Given the description of an element on the screen output the (x, y) to click on. 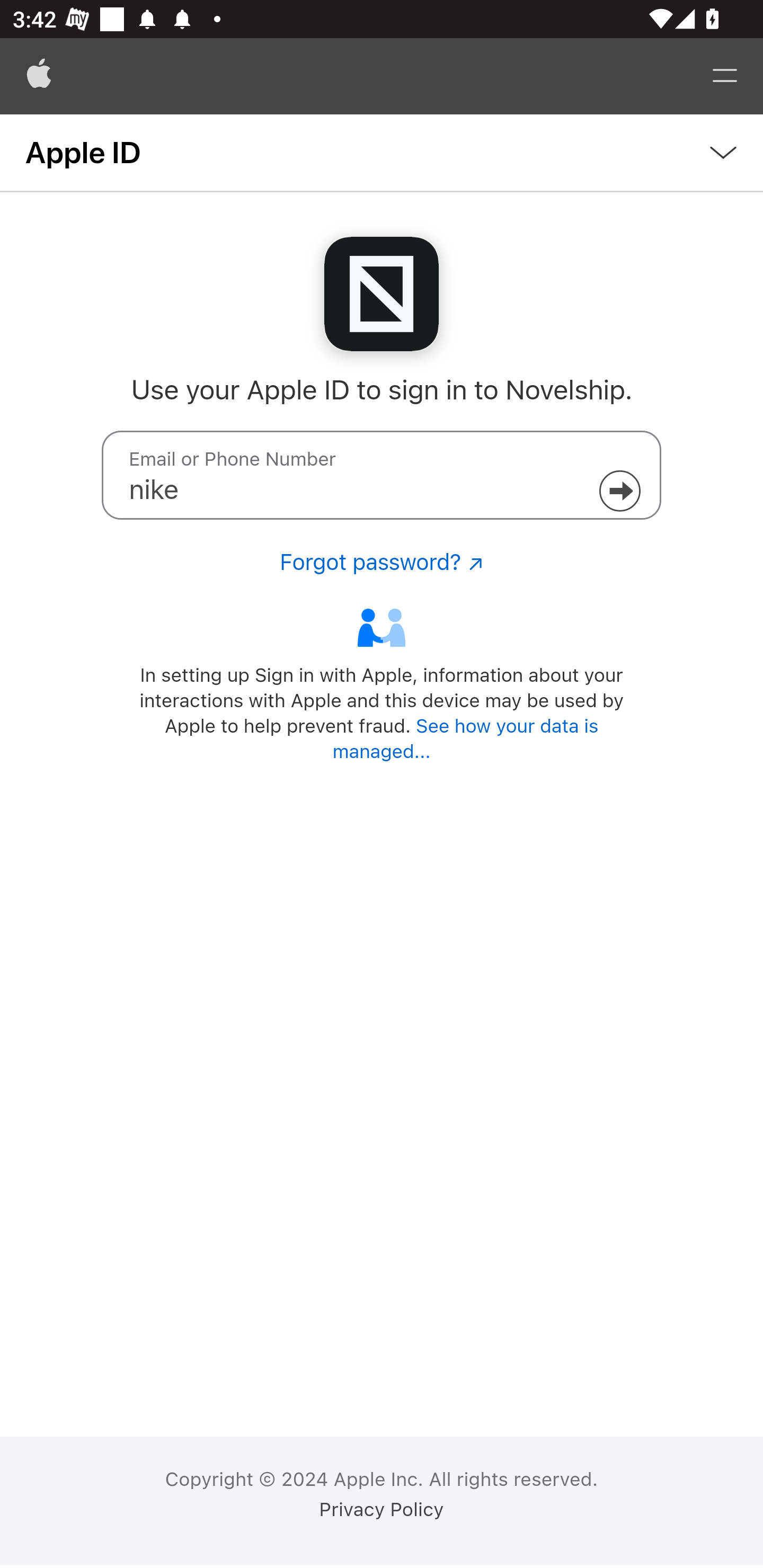
Apple (38, 75)
Menu (724, 75)
Open Menu (381, 152)
nike (381, 475)
Continue (618, 490)
Privacy Policy (381, 1509)
